Given the description of an element on the screen output the (x, y) to click on. 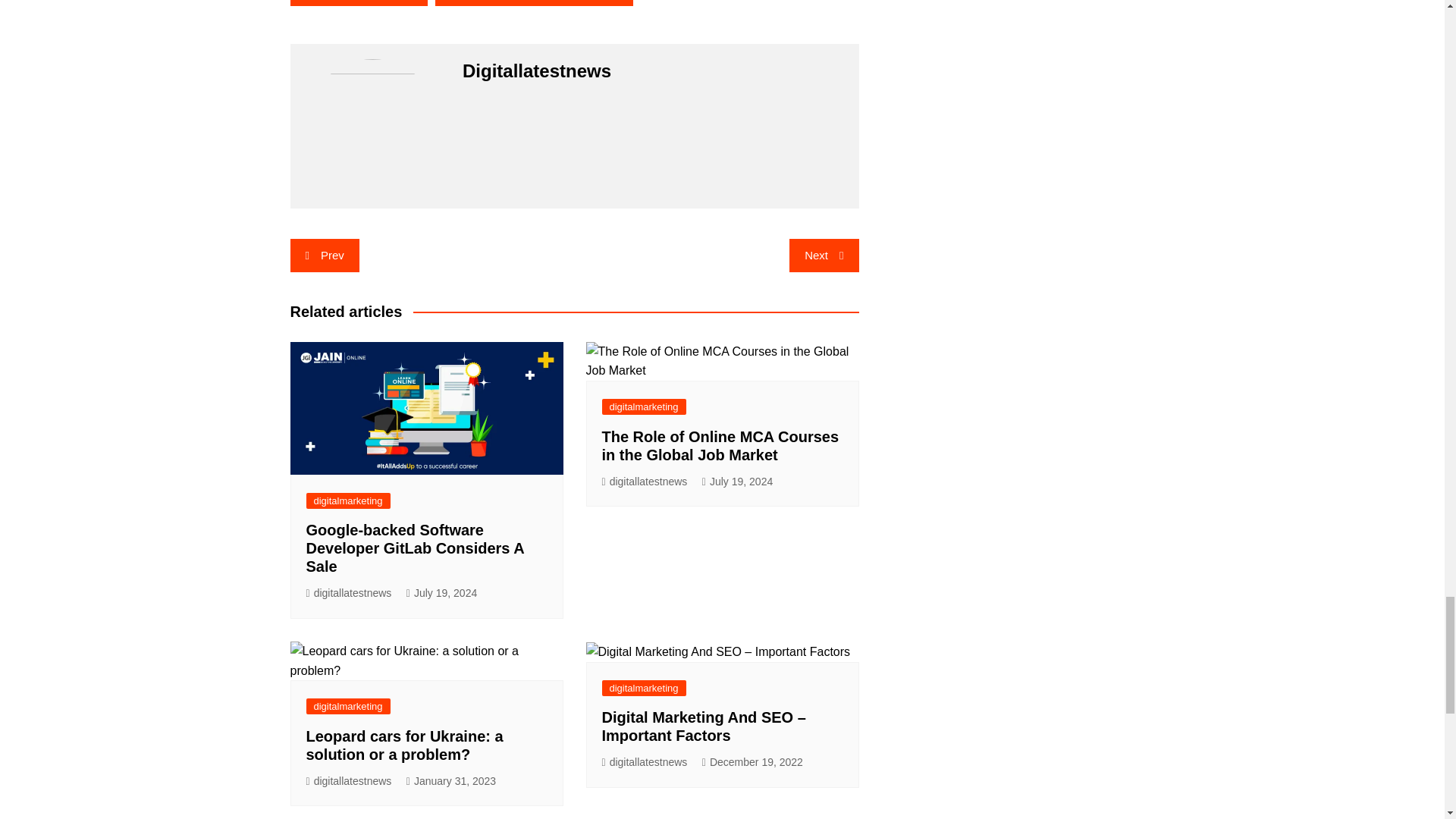
Prev (323, 255)
Leopard cars for Ukraine: a solution or a problem? (404, 745)
July 19, 2024 (737, 481)
digitalmarketing (347, 706)
January 31, 2023 (451, 781)
digitalmarketing (643, 406)
Next (824, 255)
digitallatestnews (644, 481)
Change Your Business (358, 2)
July 19, 2024 (441, 592)
digitallatestnews (348, 781)
Google-backed Software Developer GitLab Considers A Sale (414, 547)
Personalized Marketing Campaigns (534, 2)
digitalmarketing (347, 500)
The Role of Online MCA Courses in the Global Job Market (721, 445)
